Given the description of an element on the screen output the (x, y) to click on. 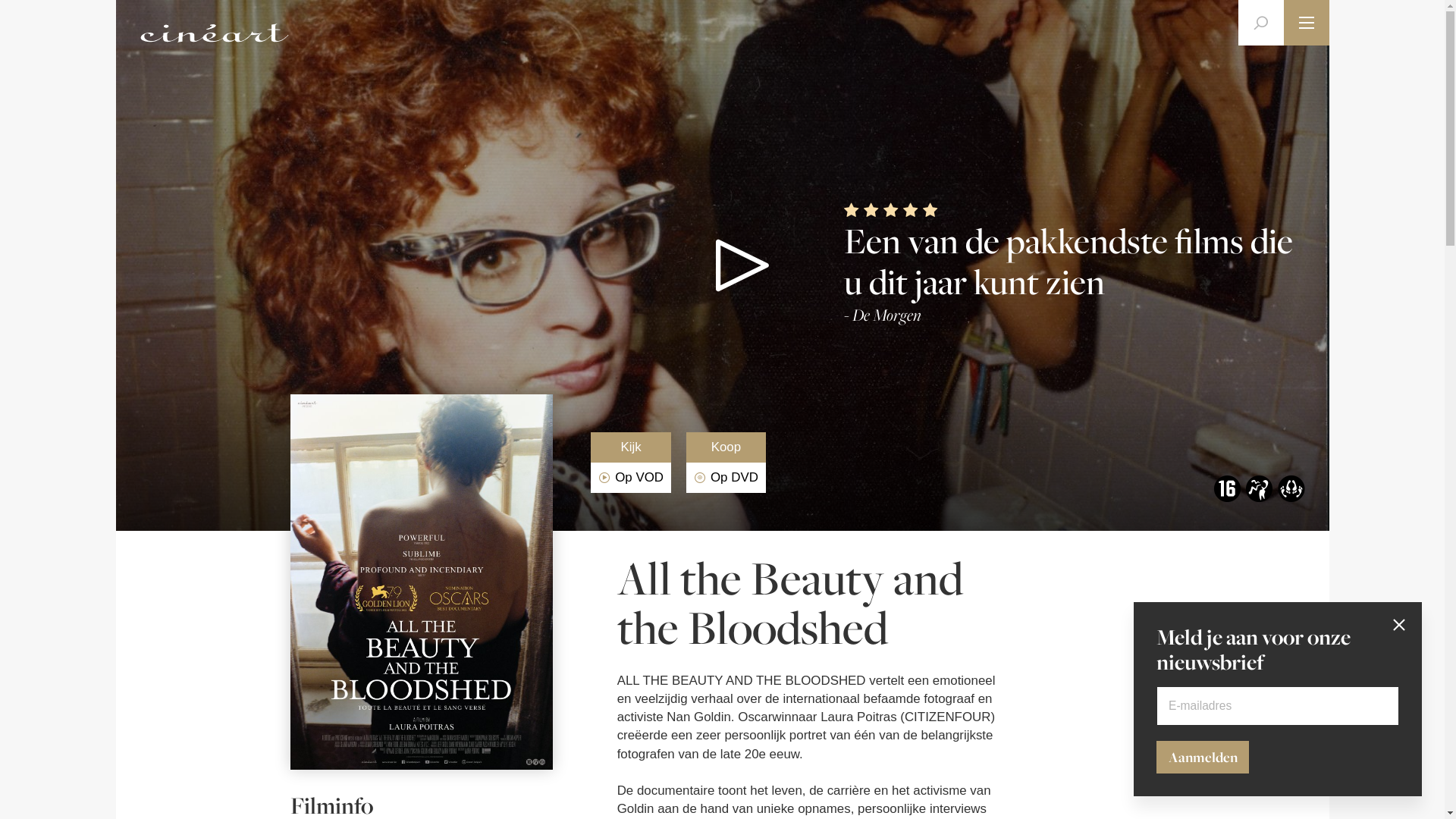
Aanmelden Element type: text (1202, 756)
Koop
Op DVD Element type: text (725, 462)
Kijk
Op VOD Element type: text (630, 462)
